Given the description of an element on the screen output the (x, y) to click on. 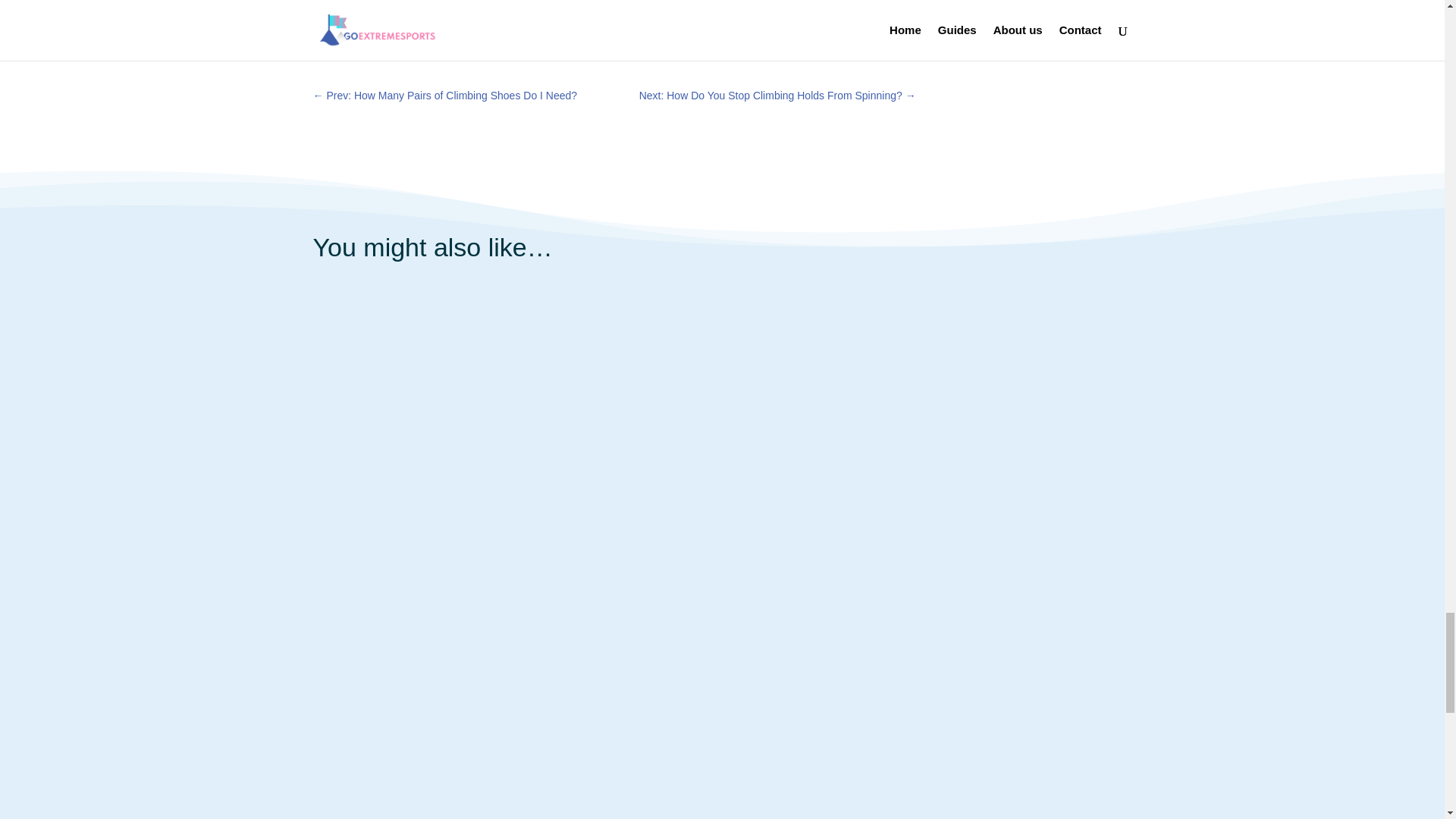
the case with skateboarding (579, 16)
